Given the description of an element on the screen output the (x, y) to click on. 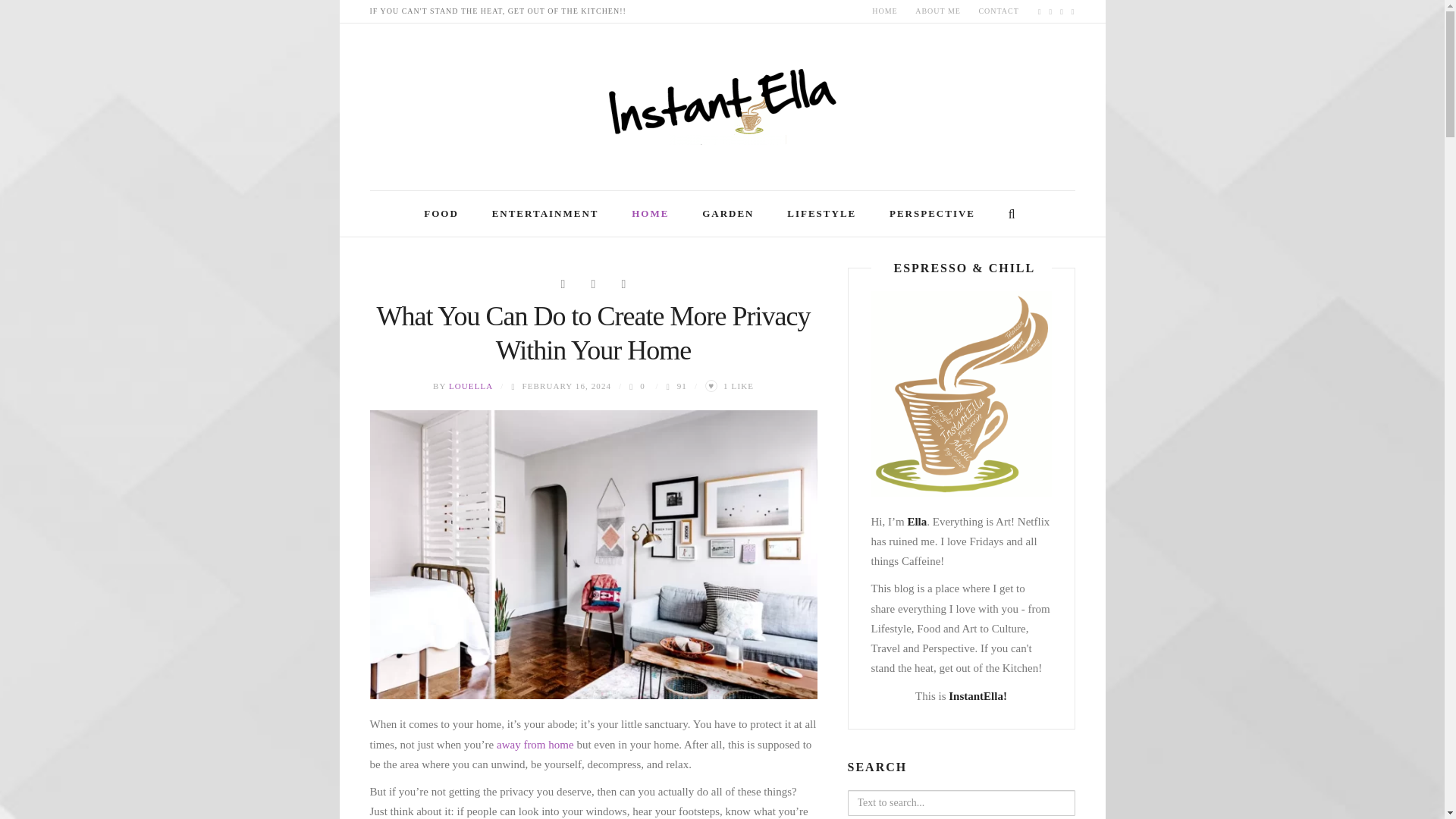
GARDEN (727, 213)
FEBRUARY 16, 2024 (566, 385)
HOME (884, 11)
Share on Twitter (622, 283)
View all posts by Louella (470, 385)
ABOUT ME (937, 11)
away from home (536, 744)
InstantELLA (721, 101)
ENTERTAINMENT (545, 213)
Pin this Post (592, 283)
